Given the description of an element on the screen output the (x, y) to click on. 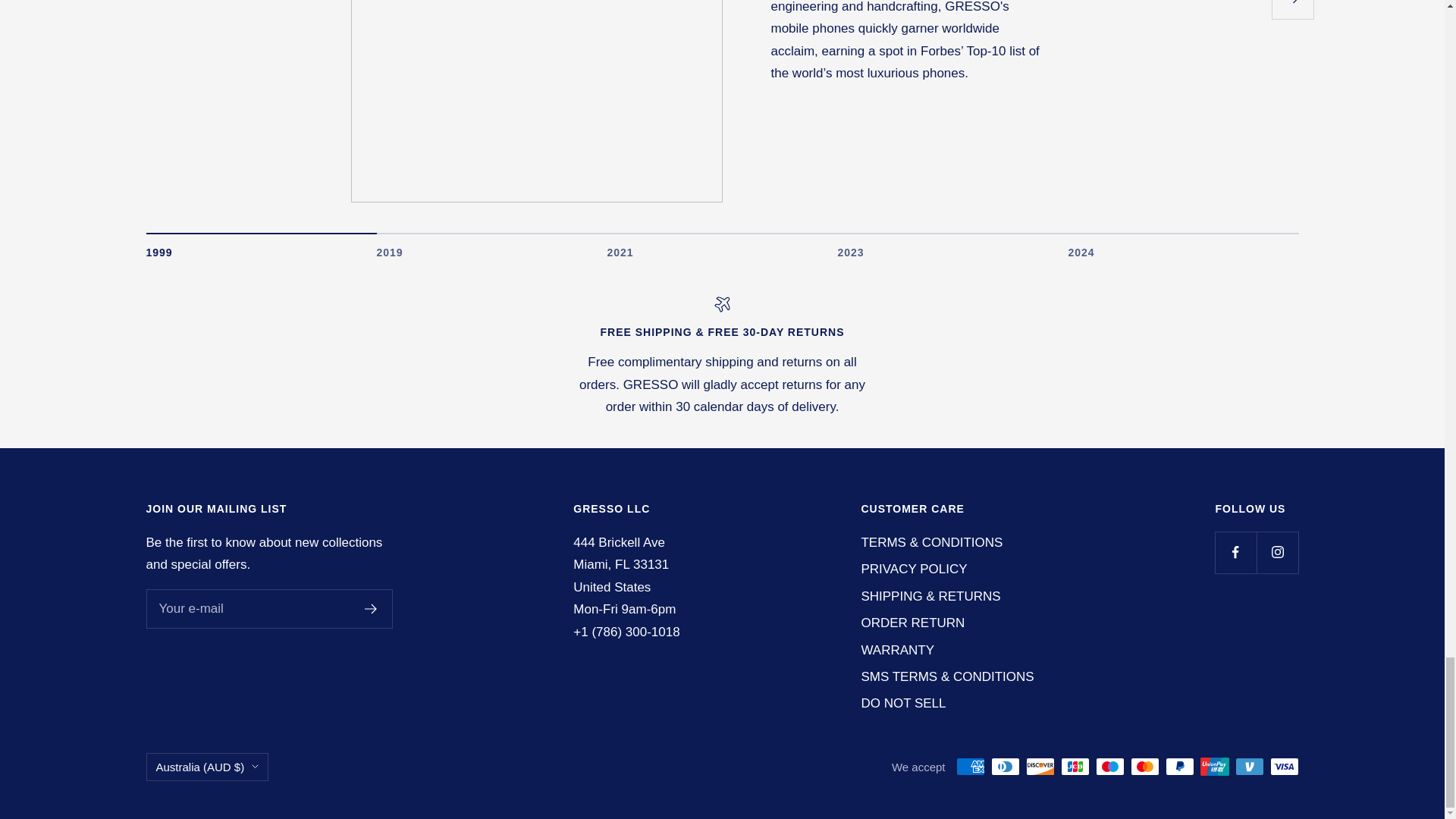
Register (721, 245)
